Given the description of an element on the screen output the (x, y) to click on. 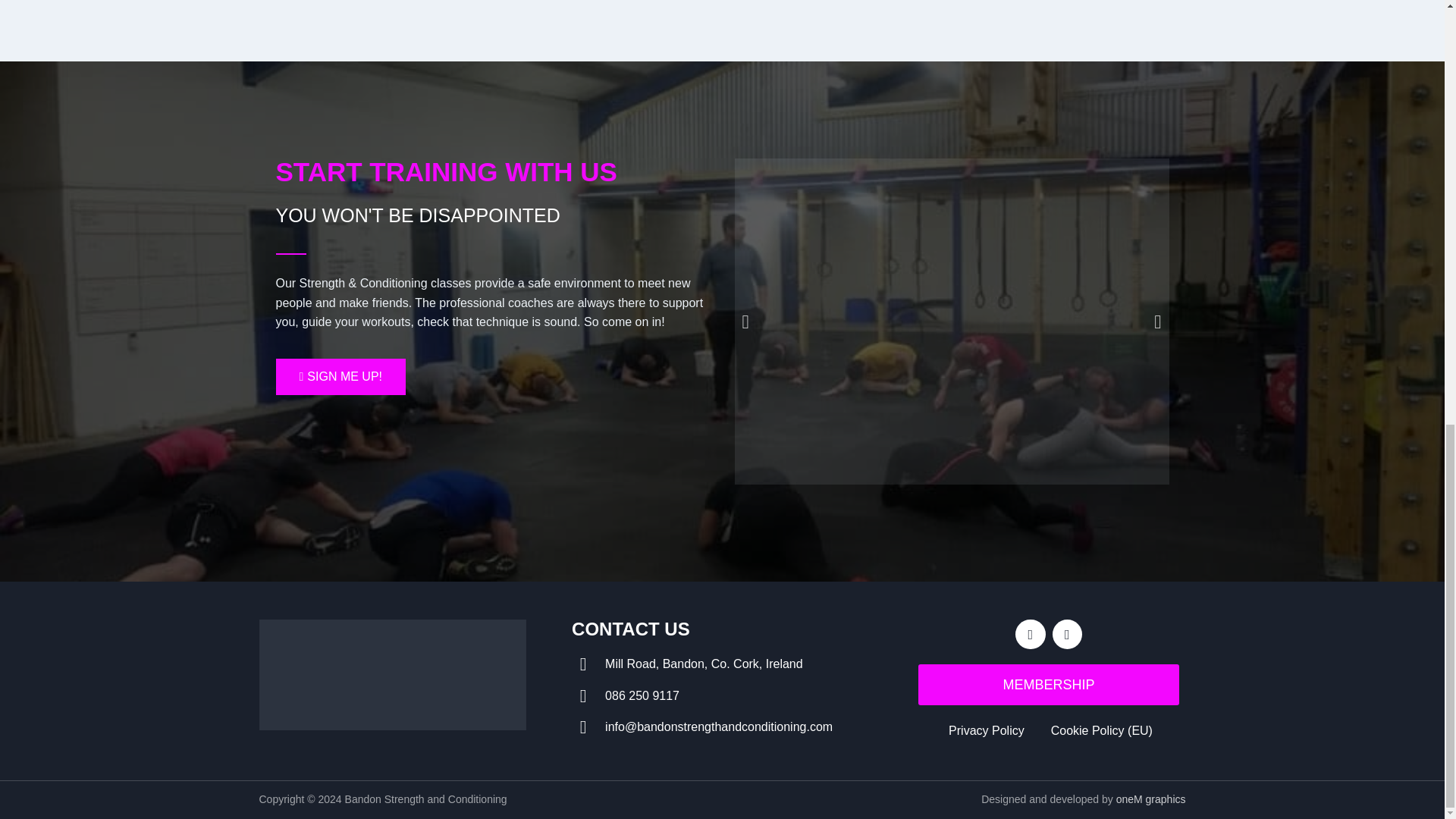
SIGN ME UP! (341, 376)
Privacy Policy (984, 731)
MEMBERSHIP (1048, 684)
oneM graphics (1151, 799)
086 250 9117 (722, 695)
